Given the description of an element on the screen output the (x, y) to click on. 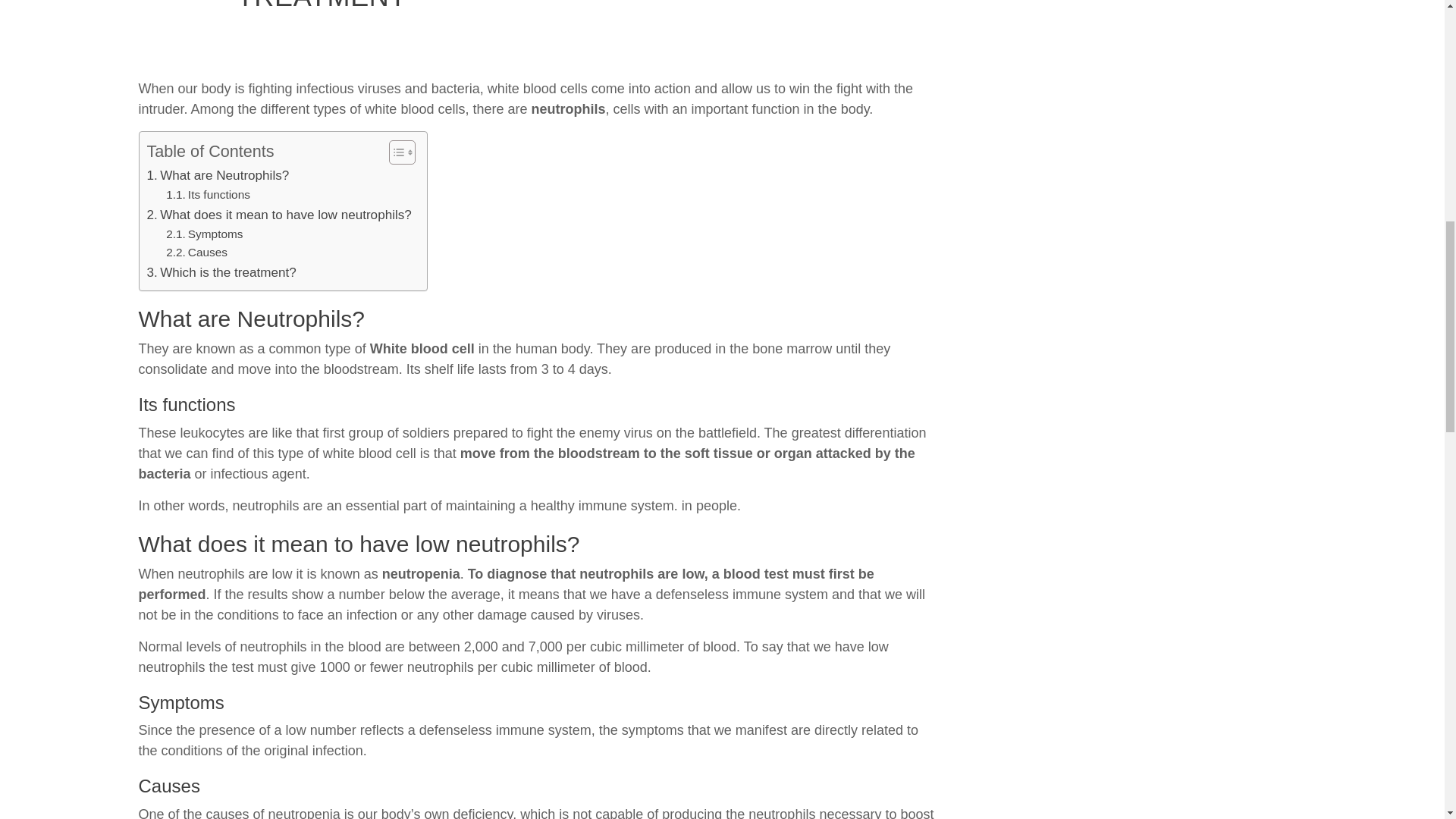
Causes (196, 252)
What are Neutrophils? (218, 175)
Which is the treatment? (222, 272)
Causes (196, 252)
What are Neutrophils? (218, 175)
Its functions (207, 194)
Symptoms (204, 234)
Which is the treatment? (222, 272)
What does it mean to have low neutrophils? (279, 214)
What does it mean to have low neutrophils? (279, 214)
Symptoms (204, 234)
Its functions (207, 194)
